Given the description of an element on the screen output the (x, y) to click on. 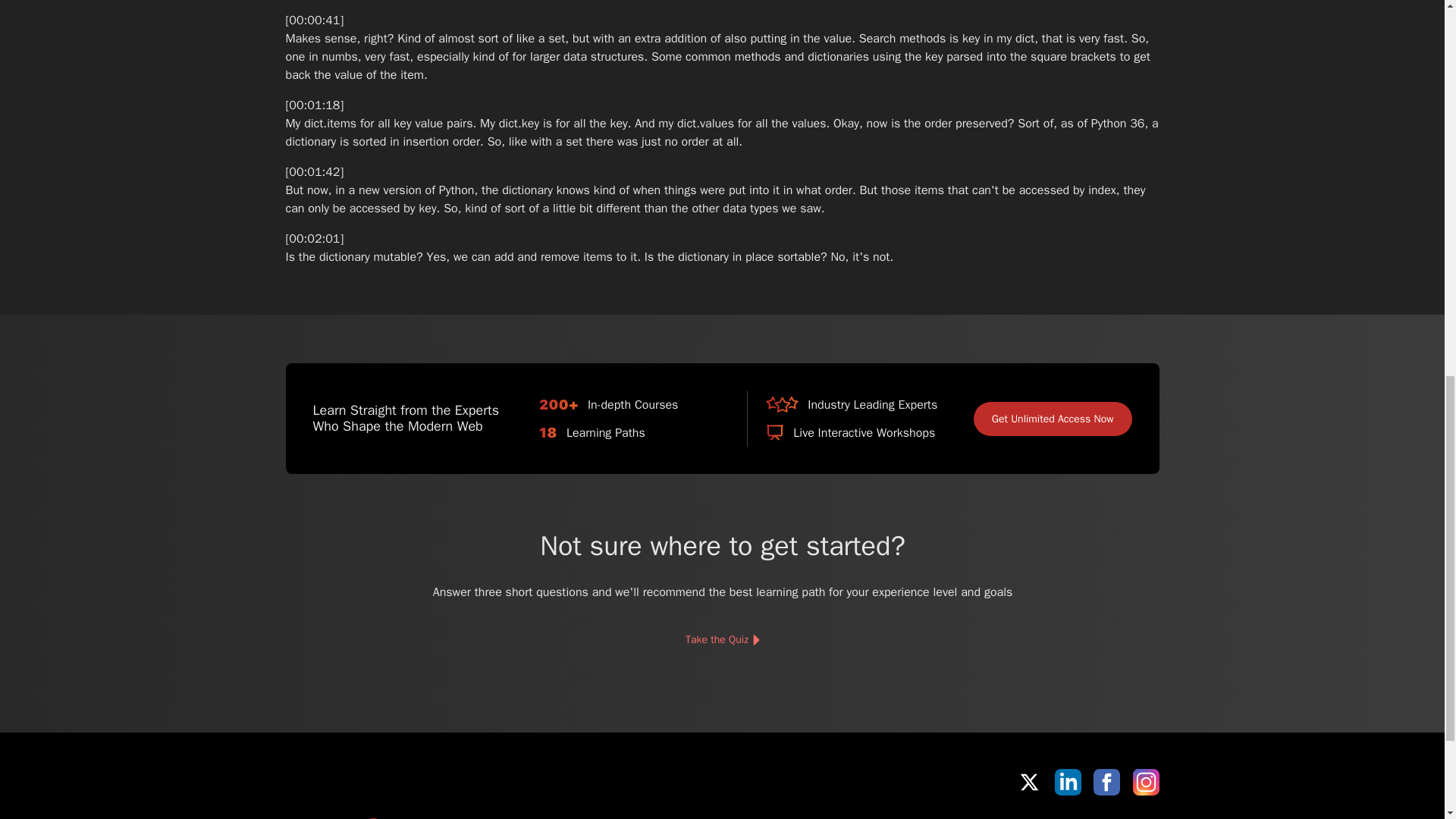
Take the Quiz (720, 640)
Facebook (1106, 782)
Get Unlimited Access Now (1053, 418)
LinkedIn (1067, 782)
Google App Store (1107, 816)
Instagram (1145, 782)
Apple App Store (998, 816)
